Given the description of an element on the screen output the (x, y) to click on. 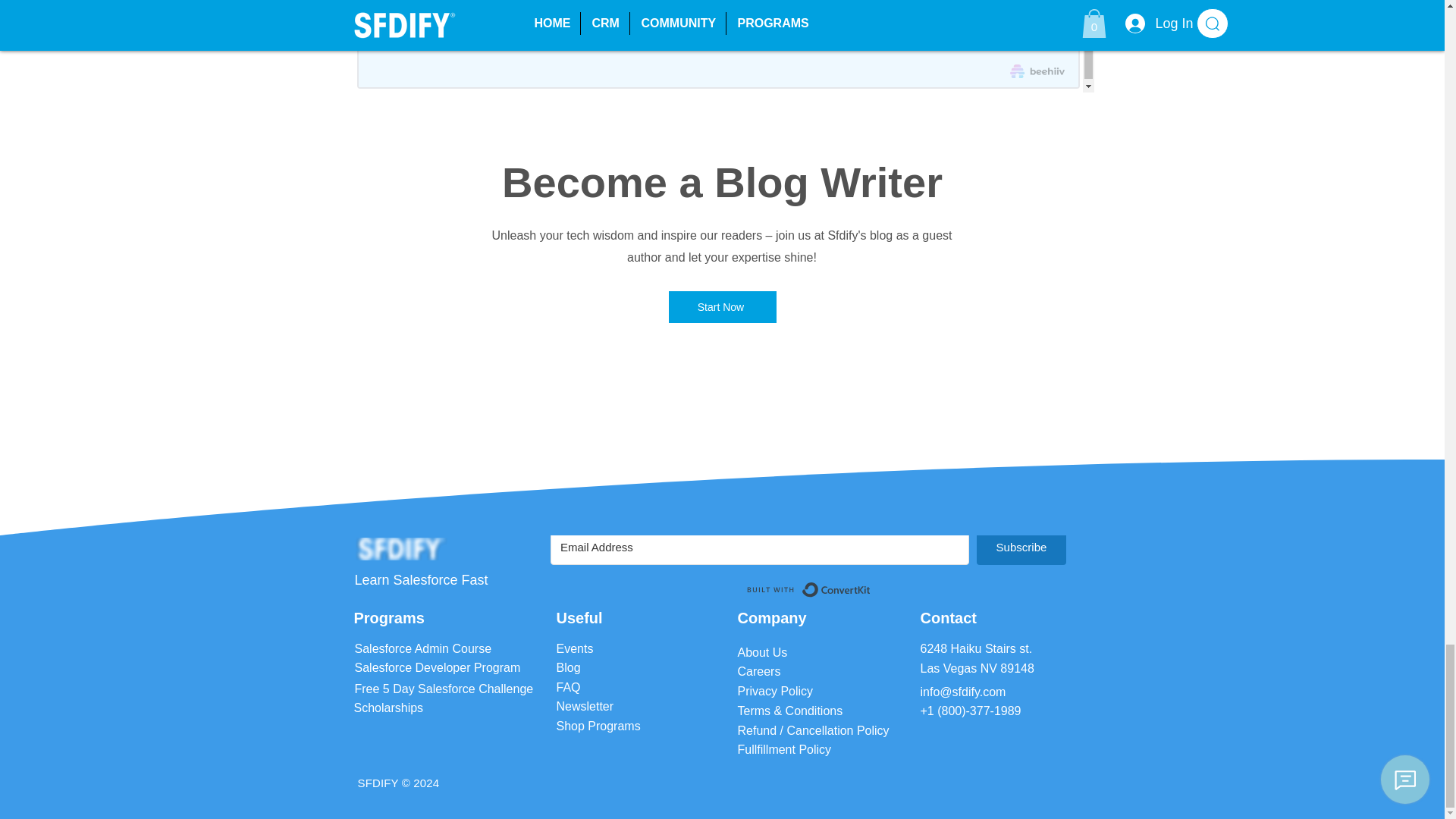
Email subscriber forum (818, 570)
Email Subscription Form (721, 46)
